Given the description of an element on the screen output the (x, y) to click on. 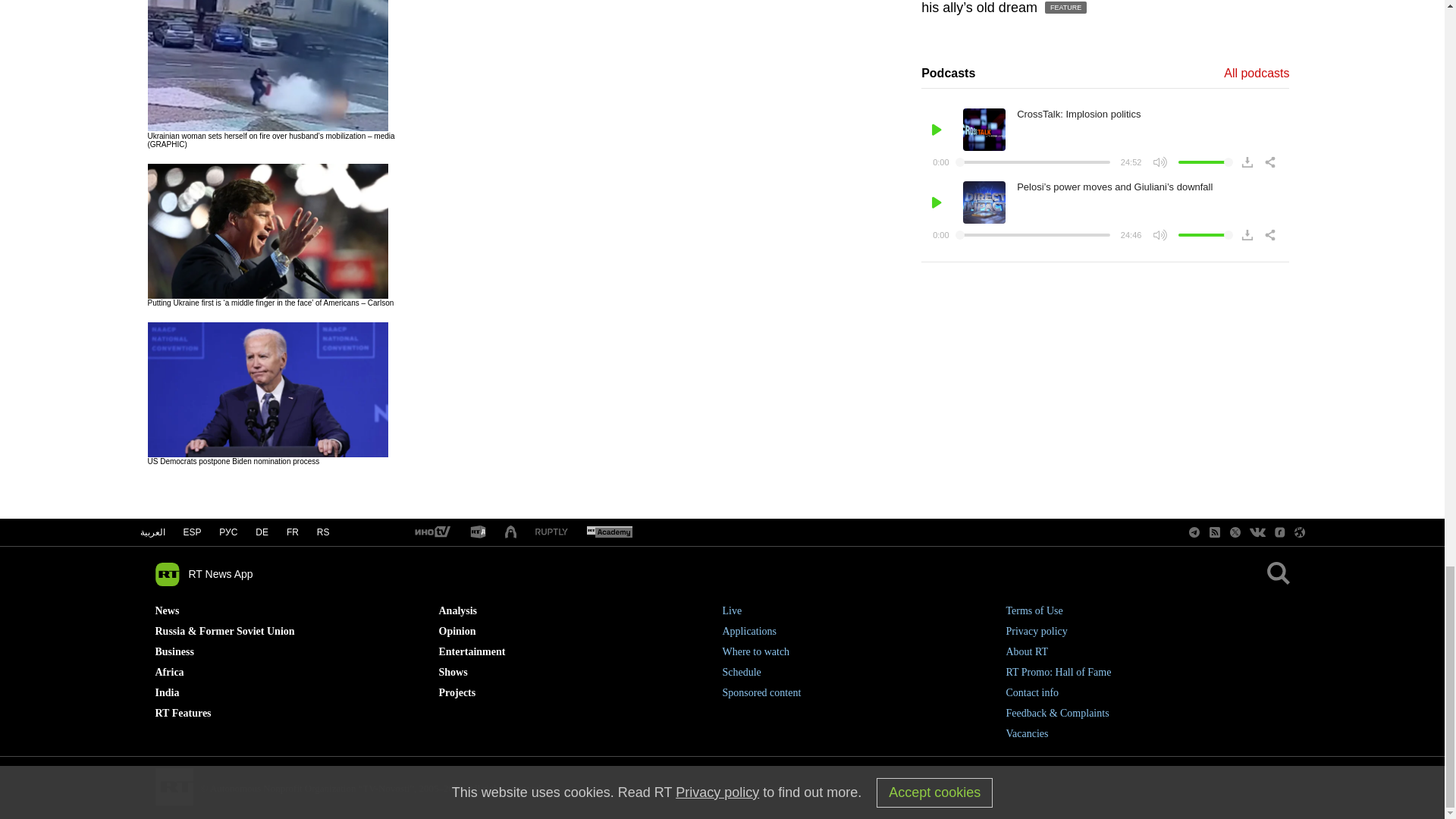
RT  (431, 532)
RT  (478, 532)
RT  (551, 532)
RT  (608, 532)
